Given the description of an element on the screen output the (x, y) to click on. 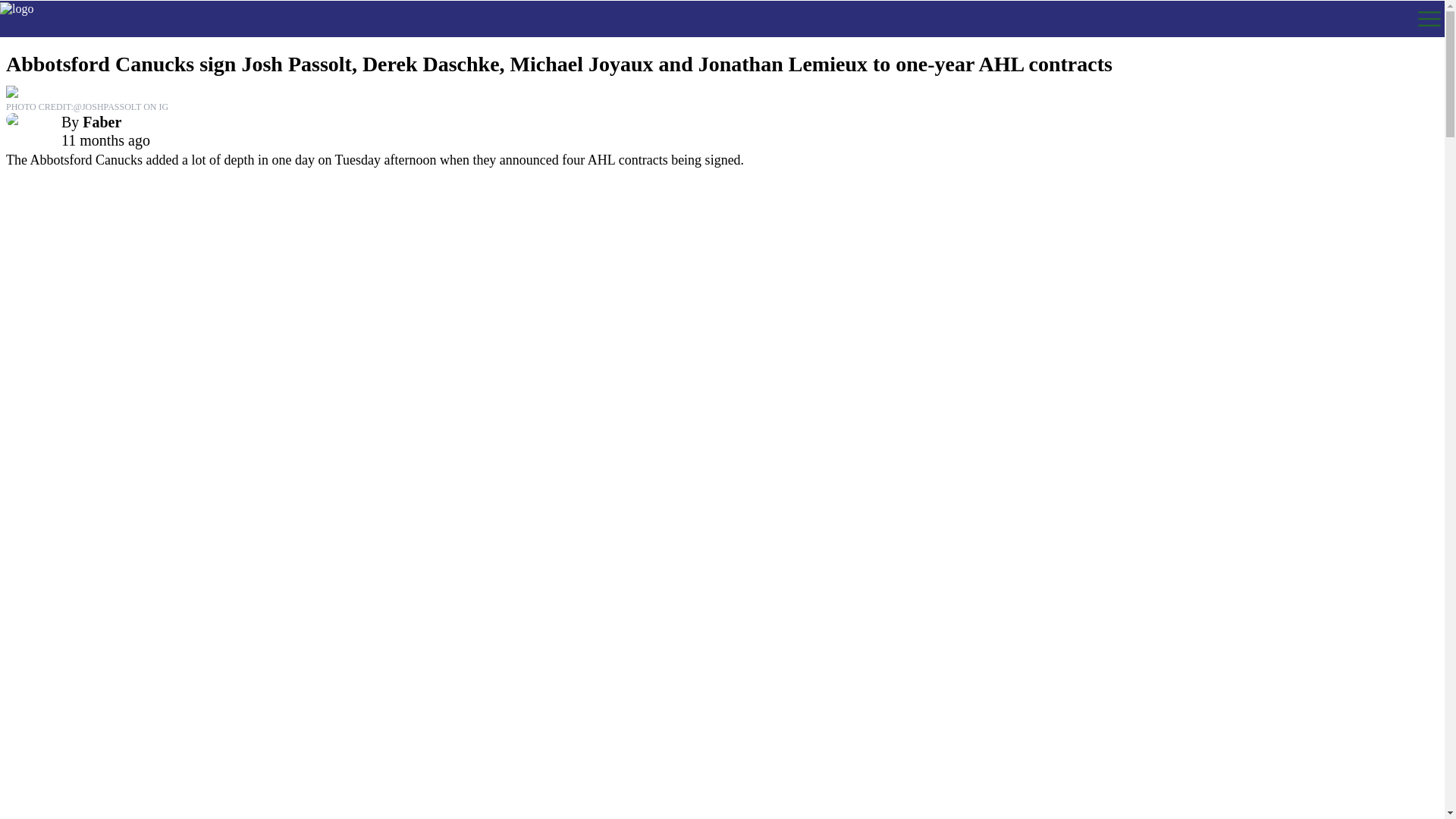
Faber (101, 121)
